Given the description of an element on the screen output the (x, y) to click on. 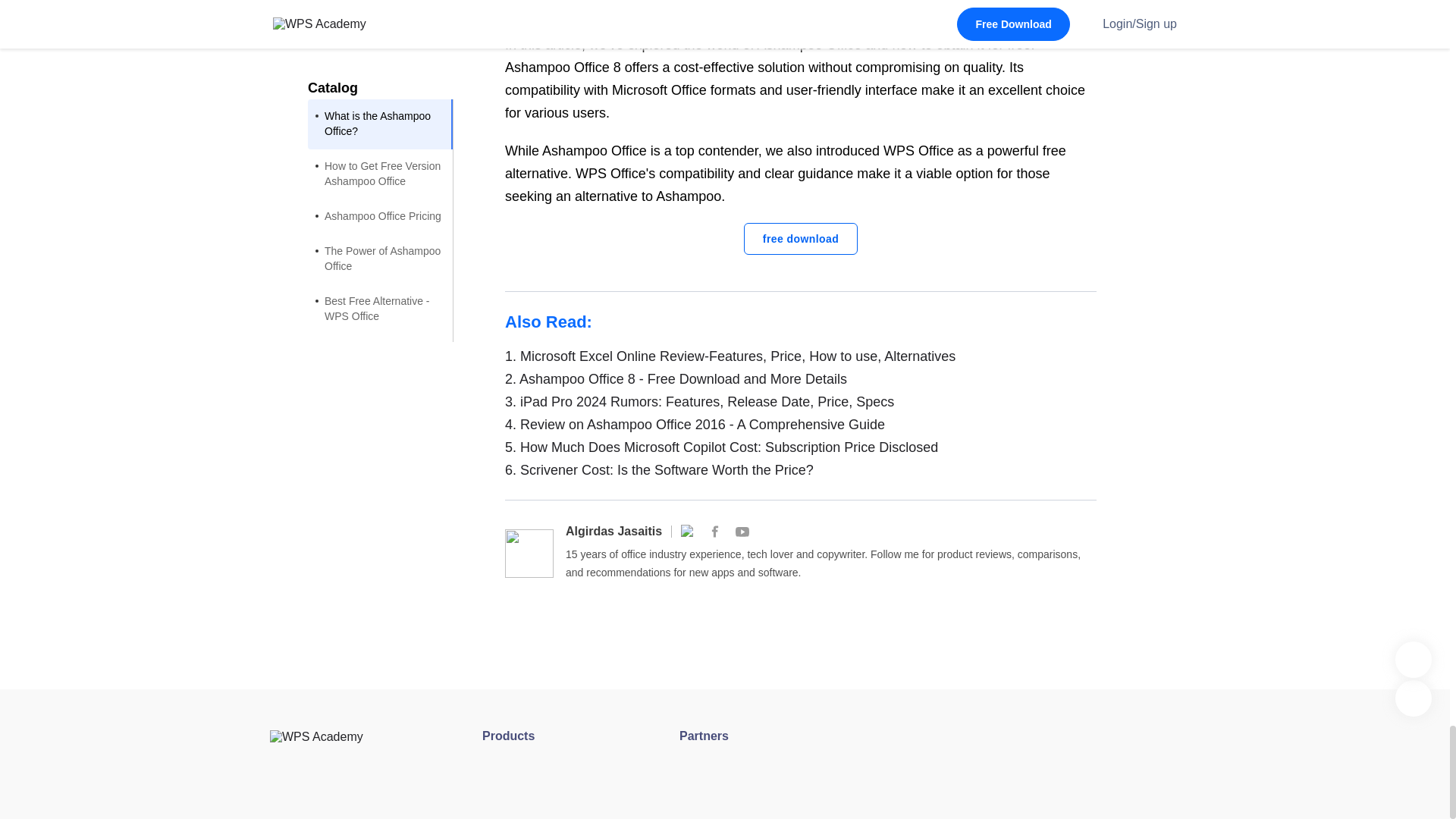
6. Scrivener Cost: Is the Software Worth the Price? (800, 469)
WPS Office Official Facebook (714, 531)
WPS Office Official Twitter (687, 531)
Scrivener Cost: Is the Software Worth the Price? (800, 469)
4. Review on Ashampoo Office 2016 - A Comprehensive Guide (800, 424)
Algirdas Jasaitis (614, 531)
WPS Office Official YouTube (742, 531)
iPad Pro 2024 Rumors: Features, Release Date, Price, Specs (800, 401)
Review on Ashampoo Office 2016  - A Comprehensive Guide (800, 424)
2. Ashampoo Office 8 - Free Download and More Details (800, 378)
free download (800, 238)
